Given the description of an element on the screen output the (x, y) to click on. 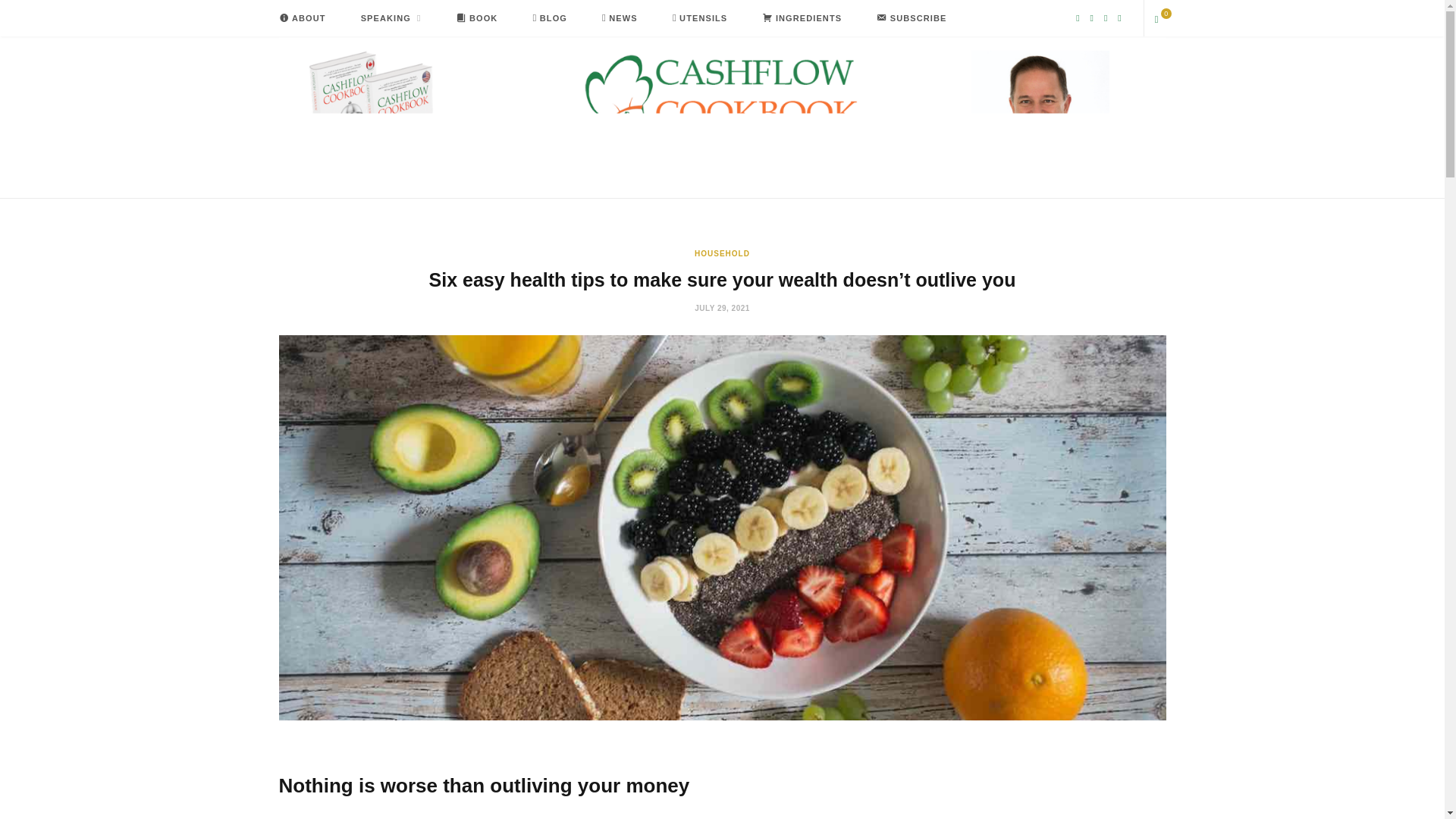
SPEAKING (391, 18)
SUBSCRIBE (911, 18)
UTENSILS (699, 18)
NEWS (619, 18)
BOOK (477, 18)
ABOUT (301, 18)
BLOG (549, 18)
INGREDIENTS (801, 18)
HOUSEHOLD (721, 253)
